Given the description of an element on the screen output the (x, y) to click on. 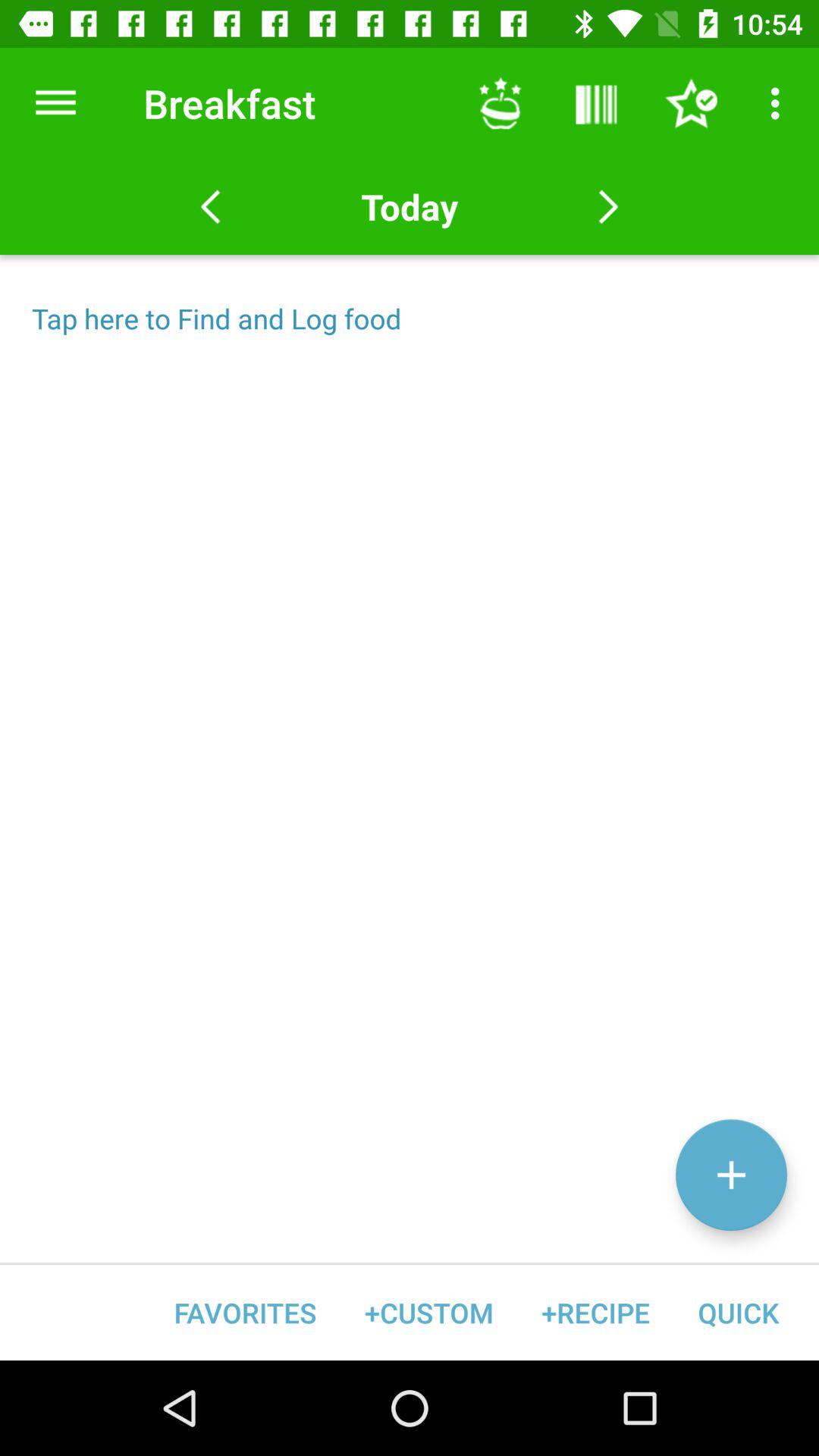
open item next to quick icon (595, 1312)
